Given the description of an element on the screen output the (x, y) to click on. 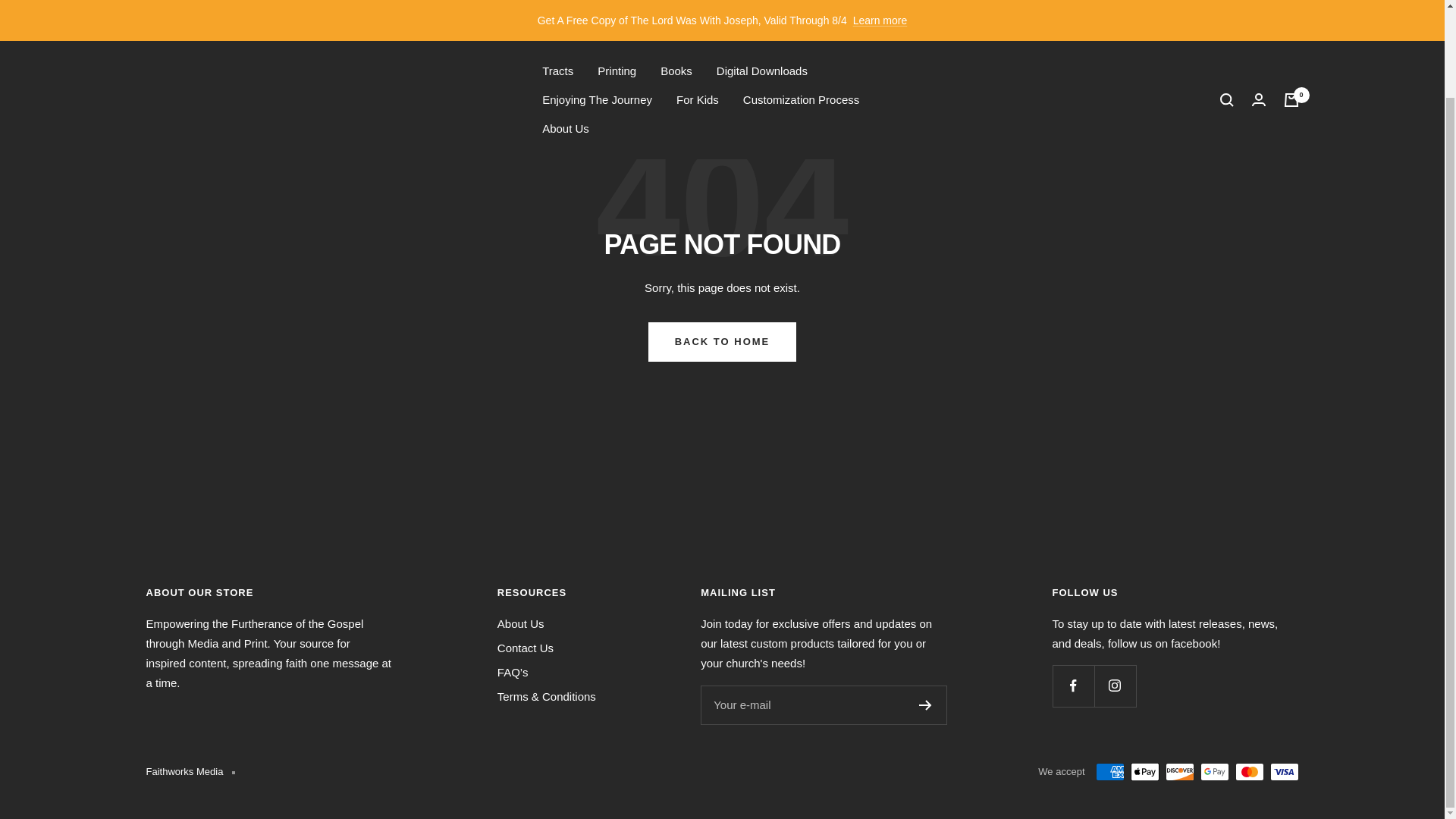
For Kids (698, 4)
About Us (565, 28)
Register (924, 705)
BACK TO HOME (721, 341)
Enjoying The Journey (596, 4)
0 (1291, 3)
Customization Process (800, 4)
Contact Us (525, 648)
About Us (520, 623)
